Given the description of an element on the screen output the (x, y) to click on. 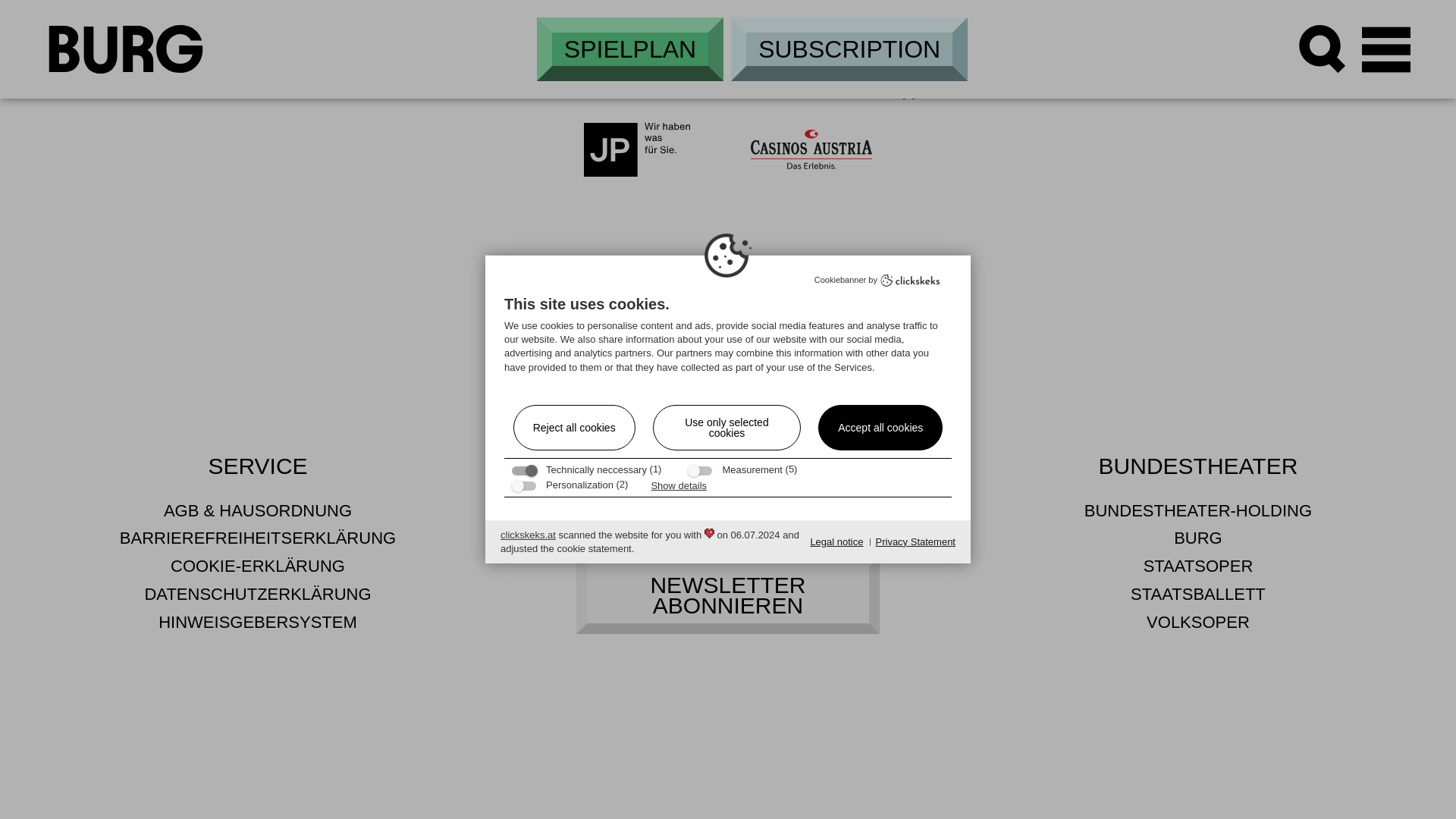
TIKTOK (758, 521)
INSTAGRAM (634, 521)
FACEBOOK (696, 521)
YOUTUBE (820, 521)
